Given the description of an element on the screen output the (x, y) to click on. 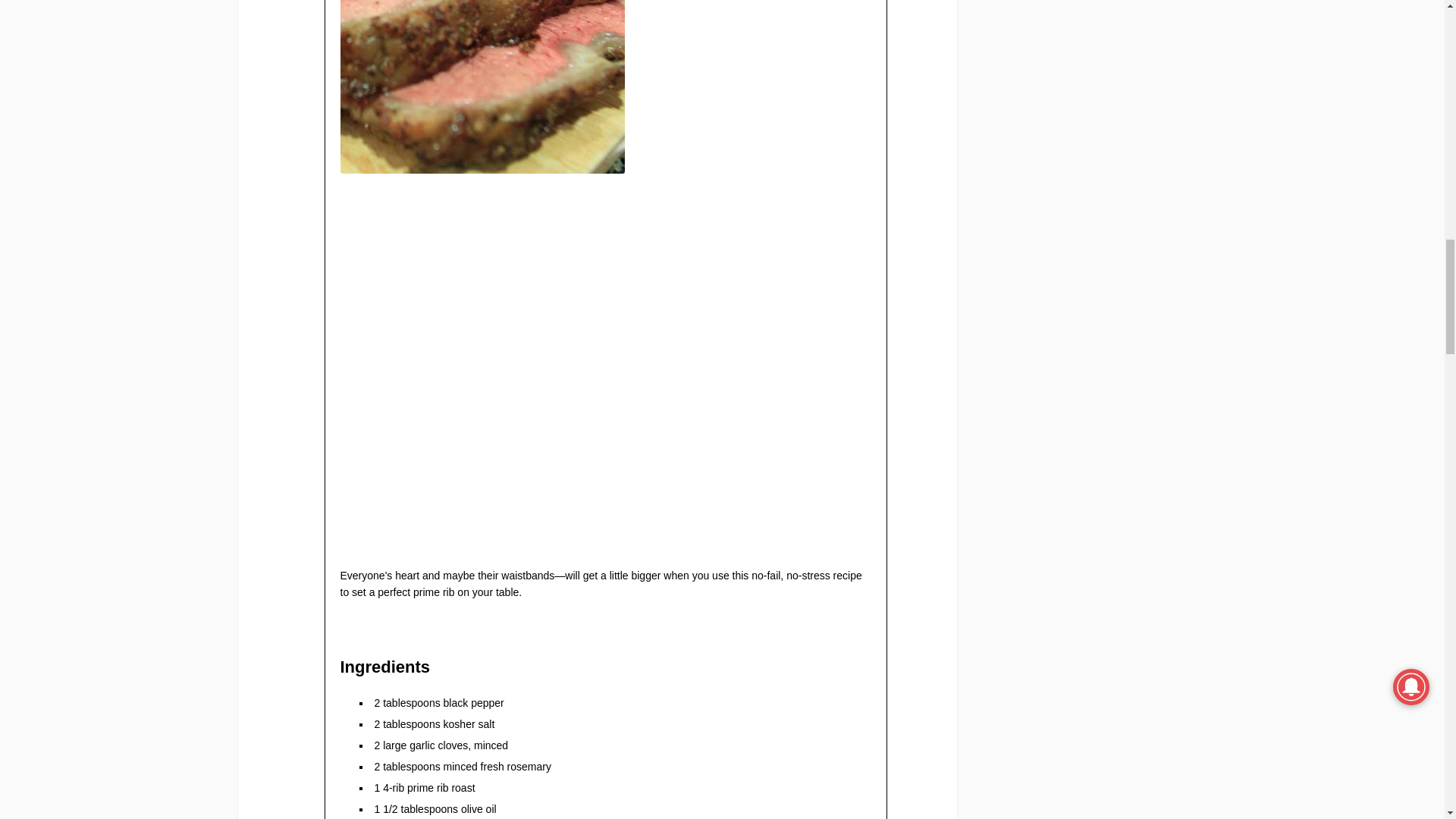
Print this recipe (604, 543)
